Given the description of an element on the screen output the (x, y) to click on. 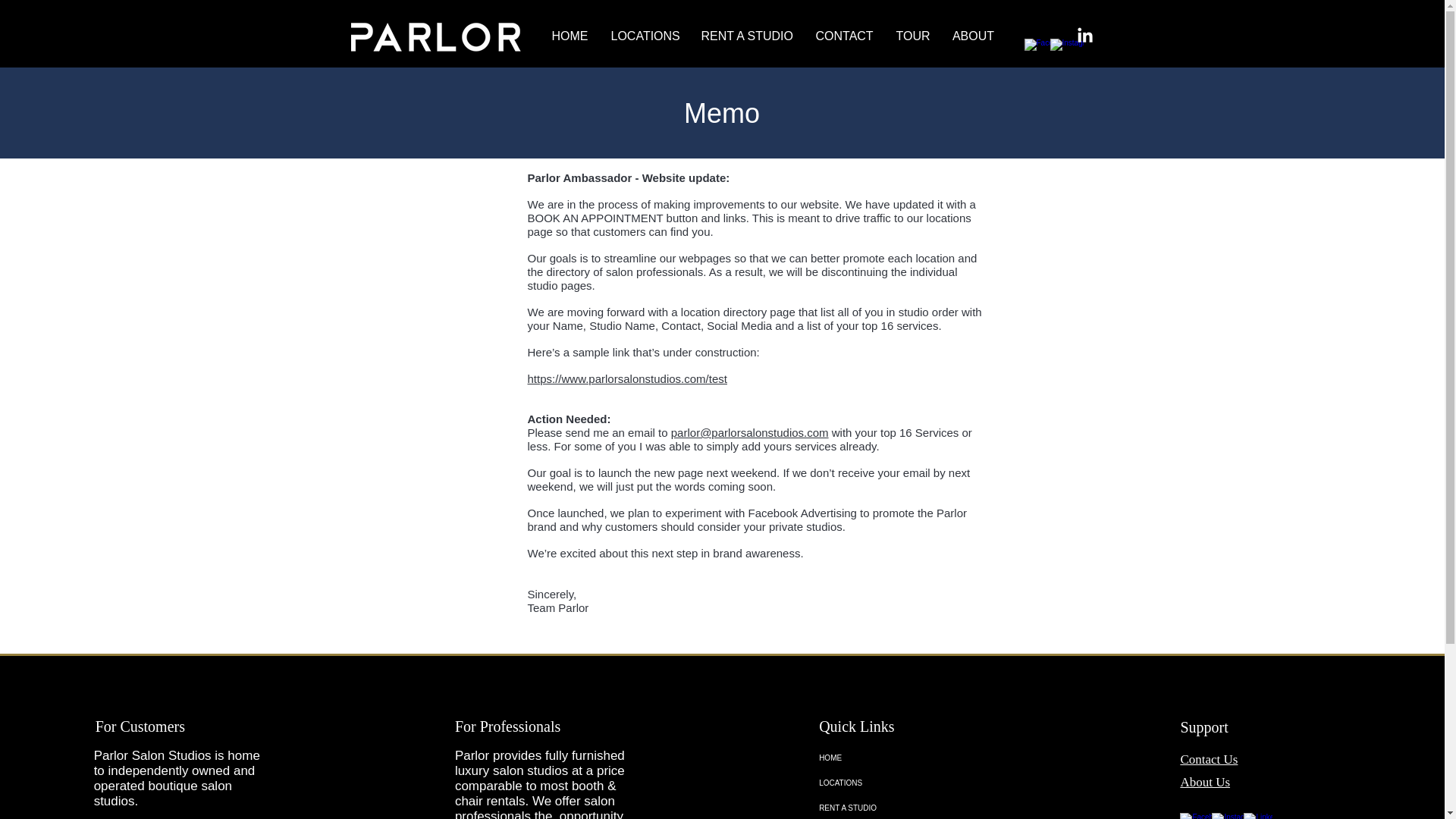
HOME (901, 757)
TOUR (911, 36)
Contact Us (1208, 759)
ABOUT (973, 36)
LOCATIONS (901, 782)
RENT A STUDIO (747, 36)
CONTACT (843, 36)
LOCATIONS (643, 36)
HOME (569, 36)
RENT A STUDIO (901, 807)
About Us (1204, 782)
